Given the description of an element on the screen output the (x, y) to click on. 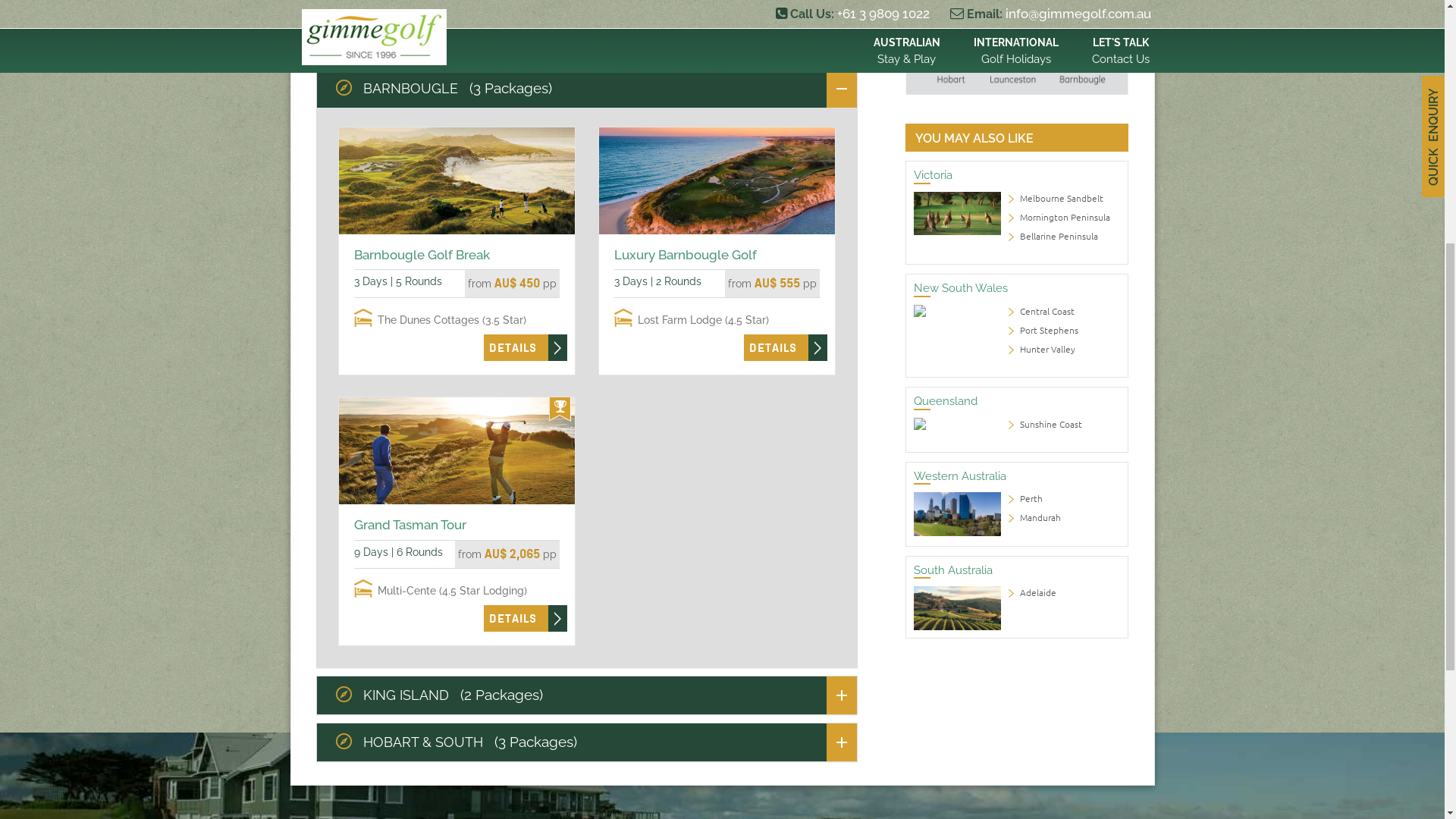
Australia Element type: text (369, 269)
Bellarine Peninsula Element type: text (1058, 681)
Hunter Valley Element type: text (1047, 794)
AUSTRALIAN
Stay & Play Element type: text (906, 496)
Luxury Barnbougle Golf Element type: text (685, 700)
Victoria Element type: text (932, 620)
Home Element type: text (330, 269)
DETAILS Element type: text (773, 793)
Melbourne Sandbelt Element type: text (1061, 643)
Central Coast Element type: text (1046, 756)
INTERNATIONAL
Golf Holidays Element type: text (1016, 496)
Barnbougle Element type: text (467, 269)
BARNBOUGLE (3 Packages) Element type: text (590, 534)
LET'S TALK
Contact Us Element type: text (1120, 496)
Barnbougle Golf Break Element type: text (421, 700)
Tasmania Element type: text (415, 269)
New South Wales Element type: text (960, 733)
Email: info@gimmegolf.com.au Element type: text (1049, 460)
Port Stephens Element type: text (1048, 775)
Mornington Peninsula Element type: text (1064, 662)
DETAILS Element type: text (512, 793)
Call Us: +61 3 9809 1022 Element type: text (853, 460)
